Given the description of an element on the screen output the (x, y) to click on. 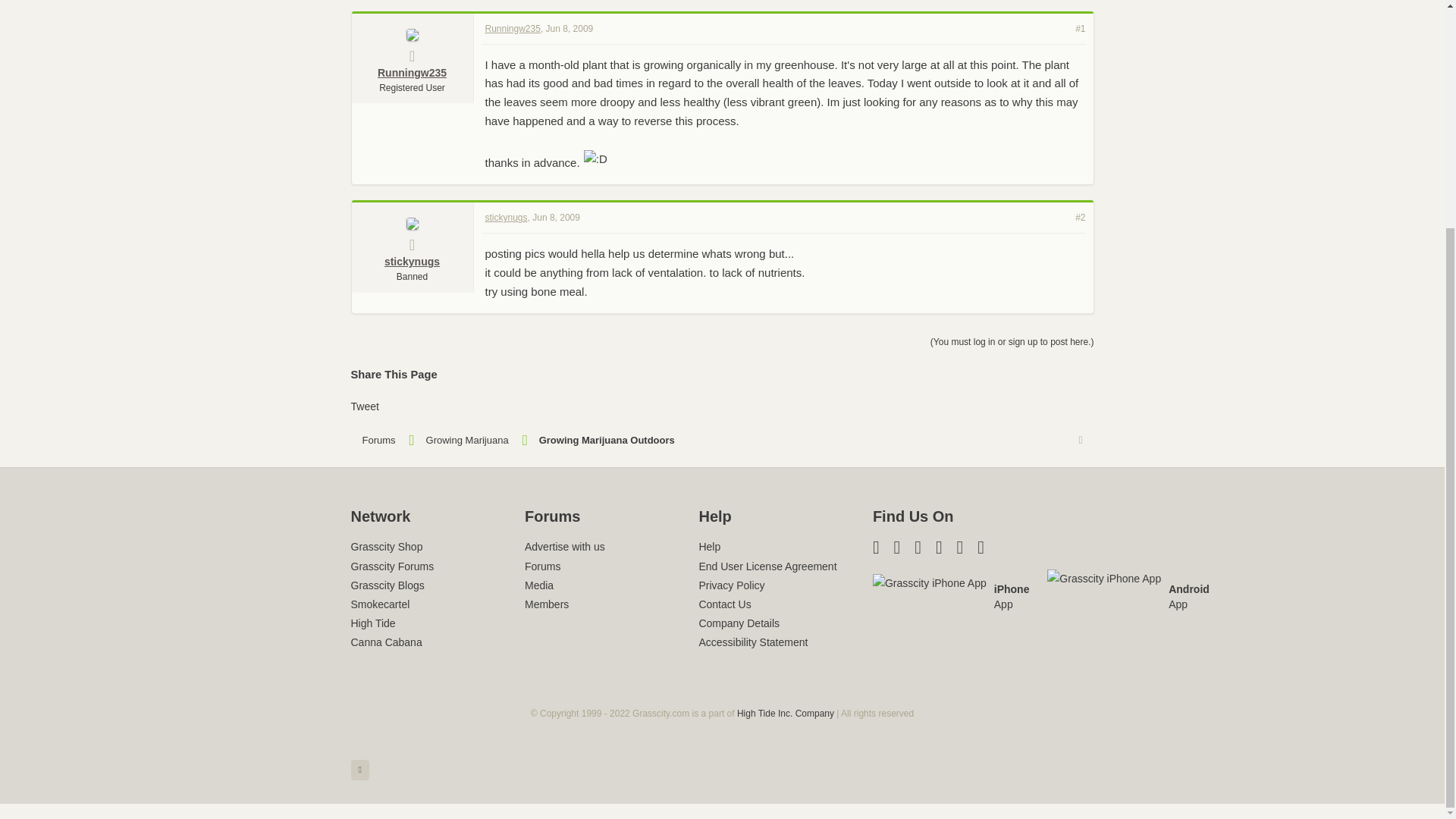
Permalink (570, 27)
Big Grin    :D (595, 158)
